Given the description of an element on the screen output the (x, y) to click on. 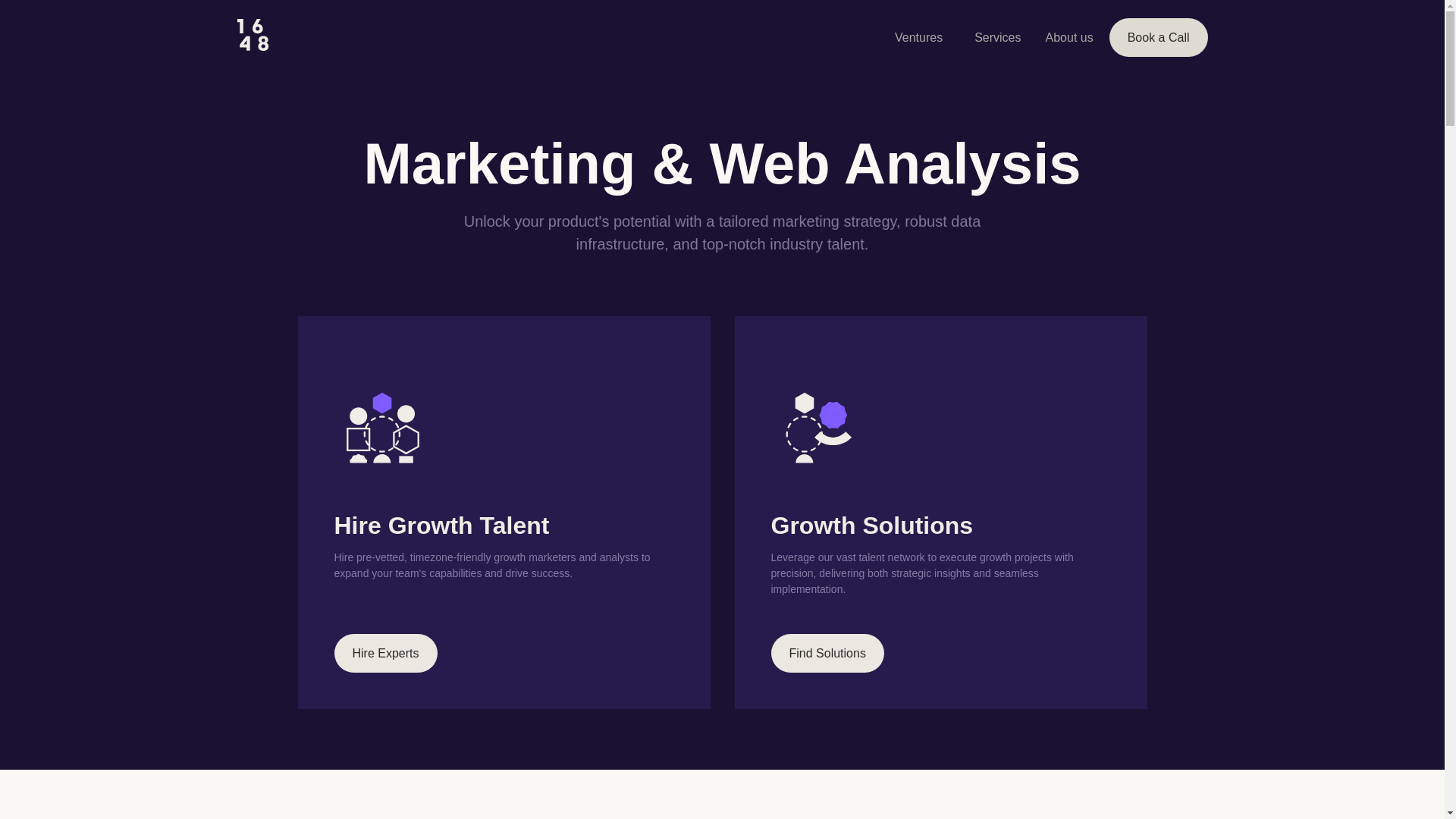
Hire Experts Element type: text (384, 652)
Find Solutions Element type: text (826, 652)
Services Element type: text (997, 37)
Ventures Element type: text (918, 37)
About us Element type: text (1069, 37)
